Given the description of an element on the screen output the (x, y) to click on. 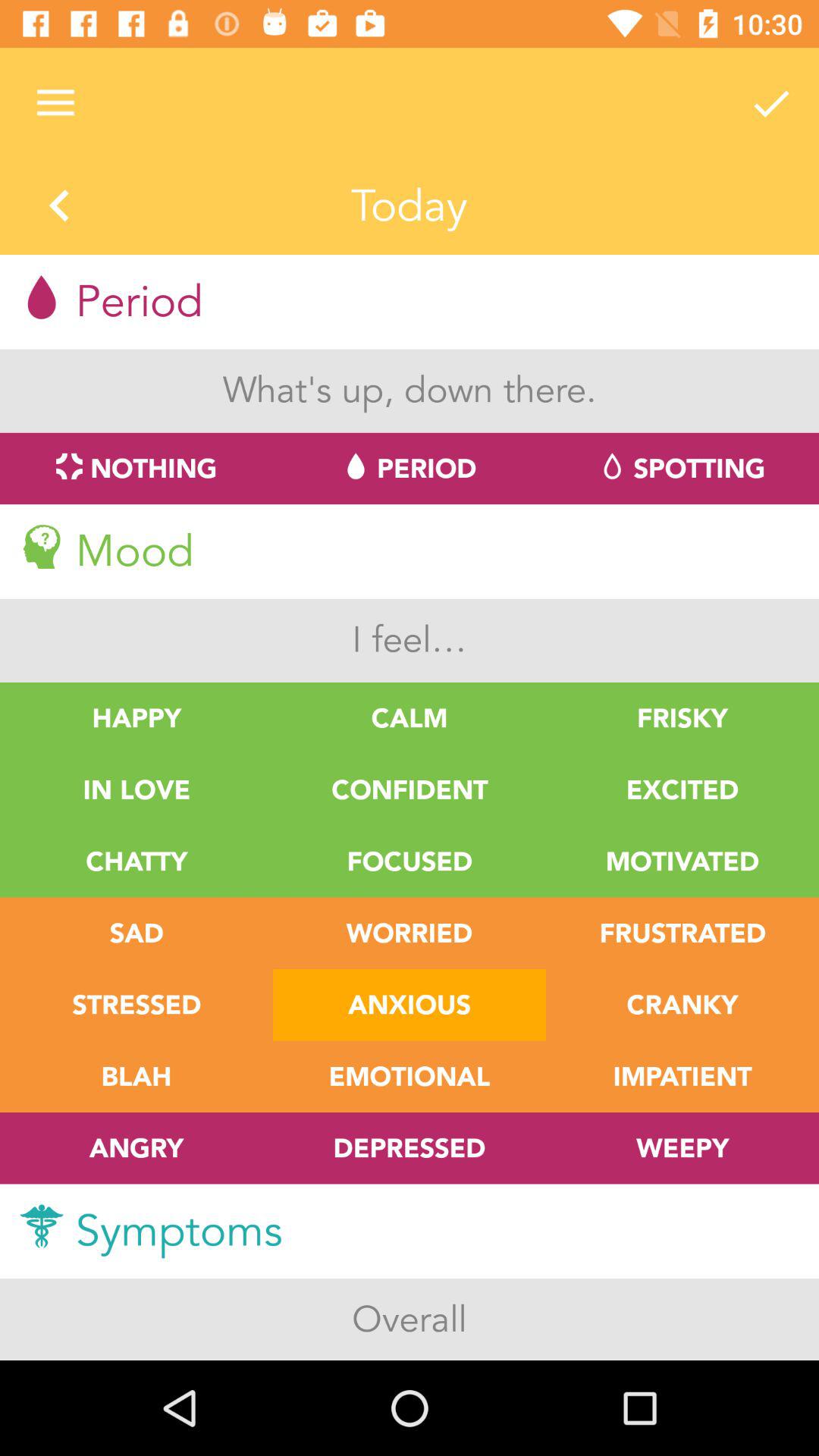
select the text right to blah (409, 1076)
click on the button below excited (682, 861)
select the option impatient of the web page (682, 1076)
select weepy next to depressed below impatient (682, 1148)
select the text today on the web page (409, 206)
go to the text depressed shown below emotional (409, 1148)
